Given the description of an element on the screen output the (x, y) to click on. 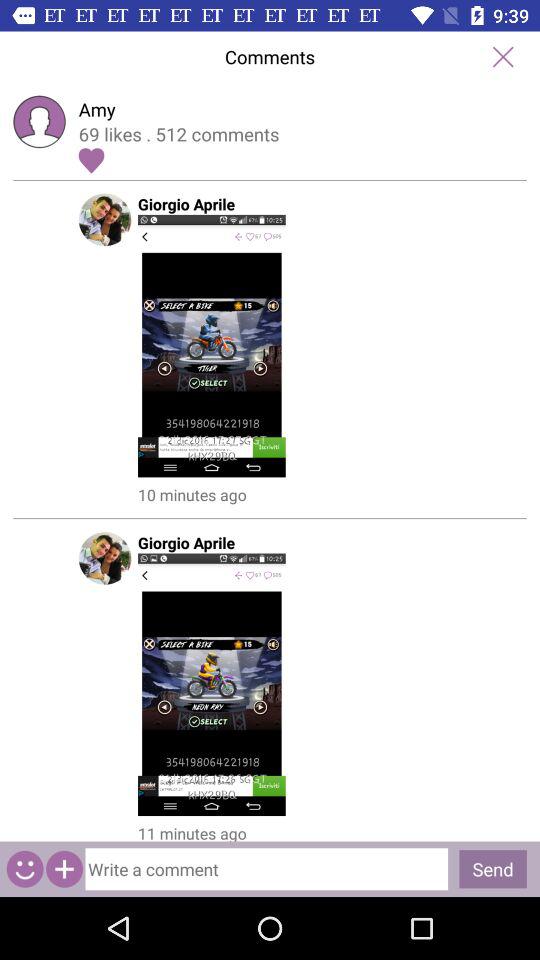
click on user profile (269, 345)
